Given the description of an element on the screen output the (x, y) to click on. 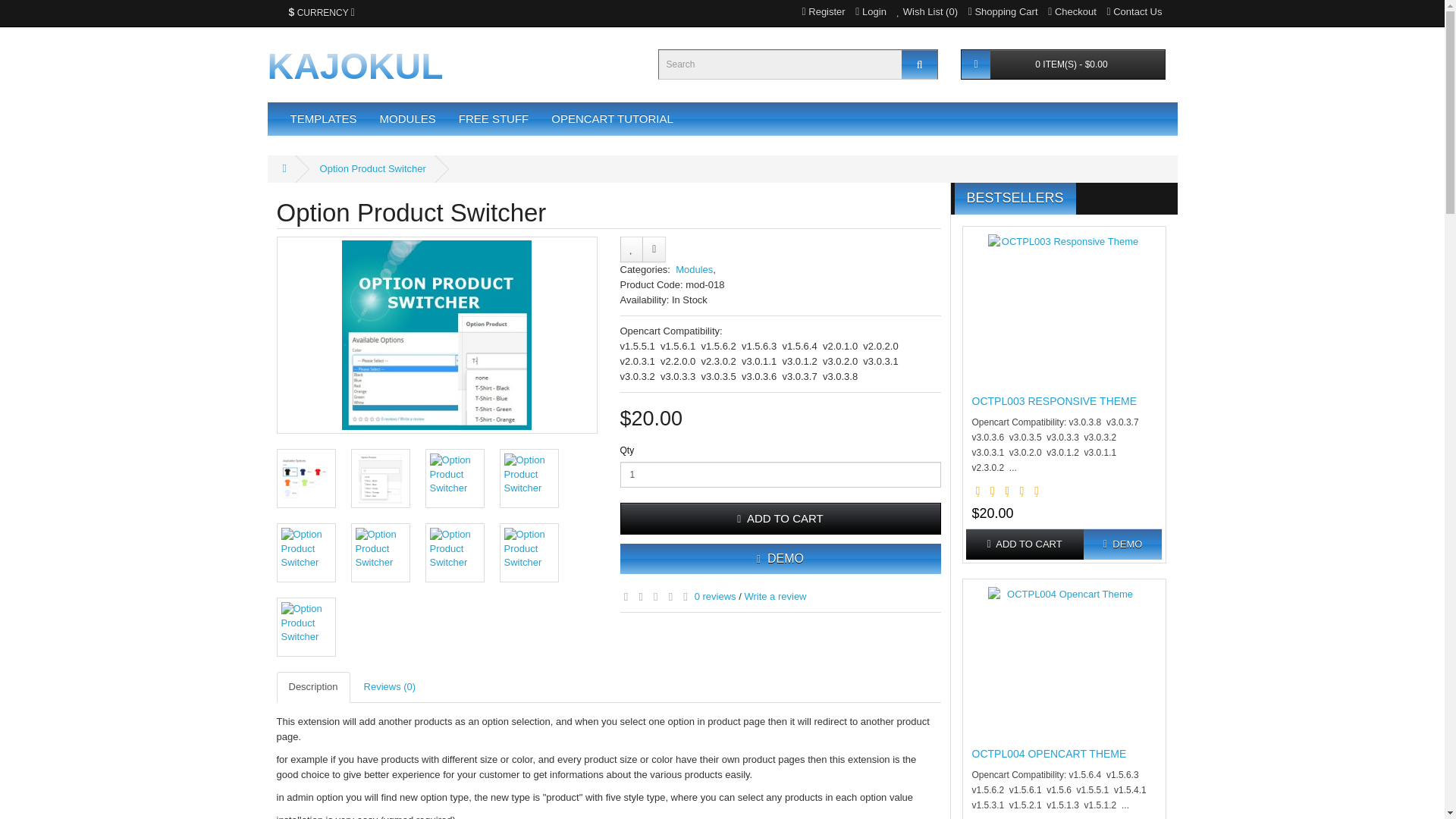
Option Product Switcher (454, 552)
Login (871, 11)
Option Product Switcher (528, 477)
Shopping Cart (1003, 11)
TEMPLATES (323, 118)
Contact Us (1133, 11)
  DEMO (780, 558)
Option Product Switcher (305, 477)
MODULES (407, 118)
Option Product Switcher (305, 552)
